Given the description of an element on the screen output the (x, y) to click on. 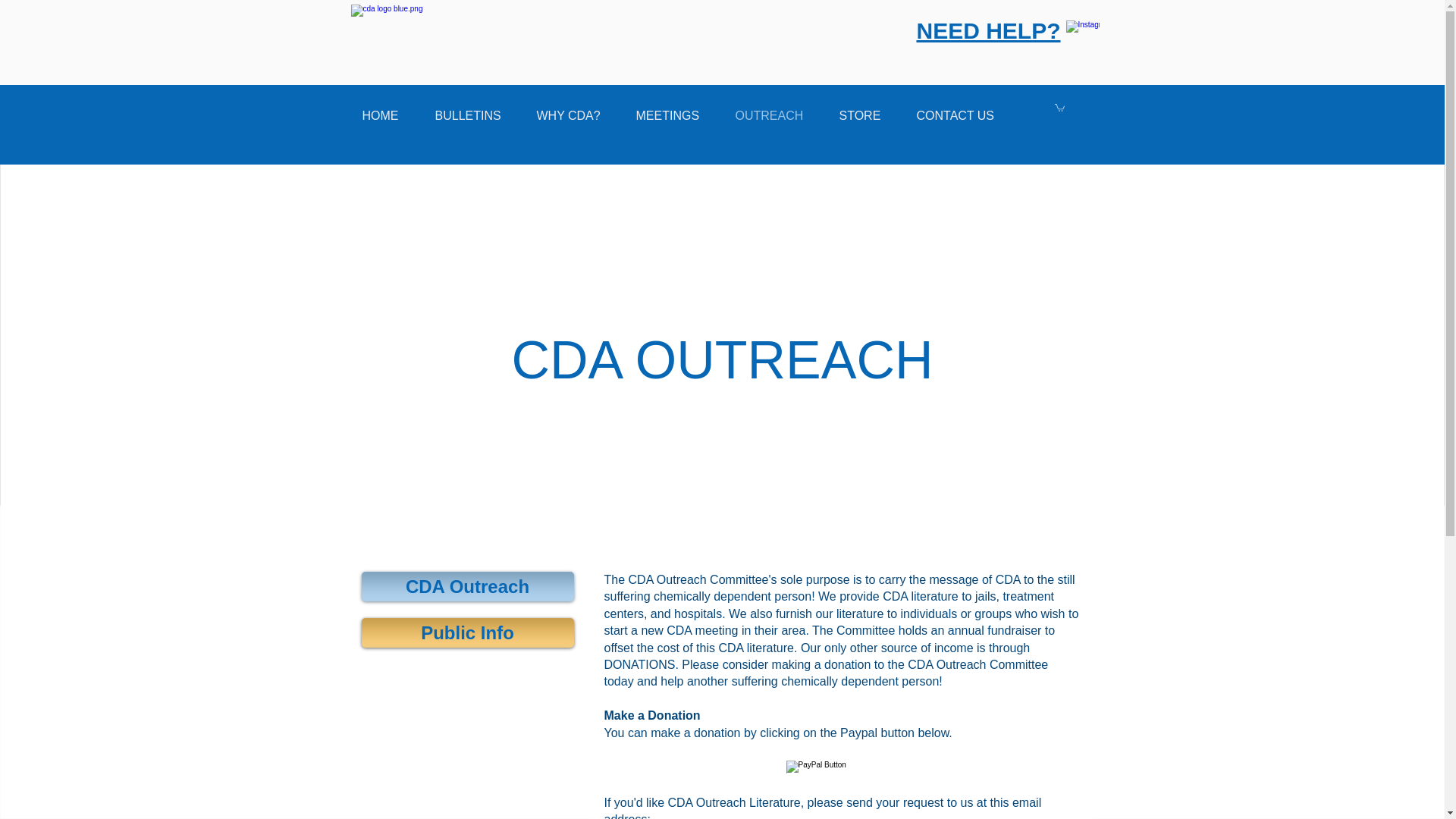
WHY CDA? (574, 116)
HOME (386, 116)
NEED HELP? (987, 30)
MEETINGS (673, 116)
BULLETINS (473, 116)
STORE (866, 116)
CONTACT US (962, 116)
CDA Outreach (467, 586)
Public Info (467, 632)
OUTREACH (775, 116)
